Given the description of an element on the screen output the (x, y) to click on. 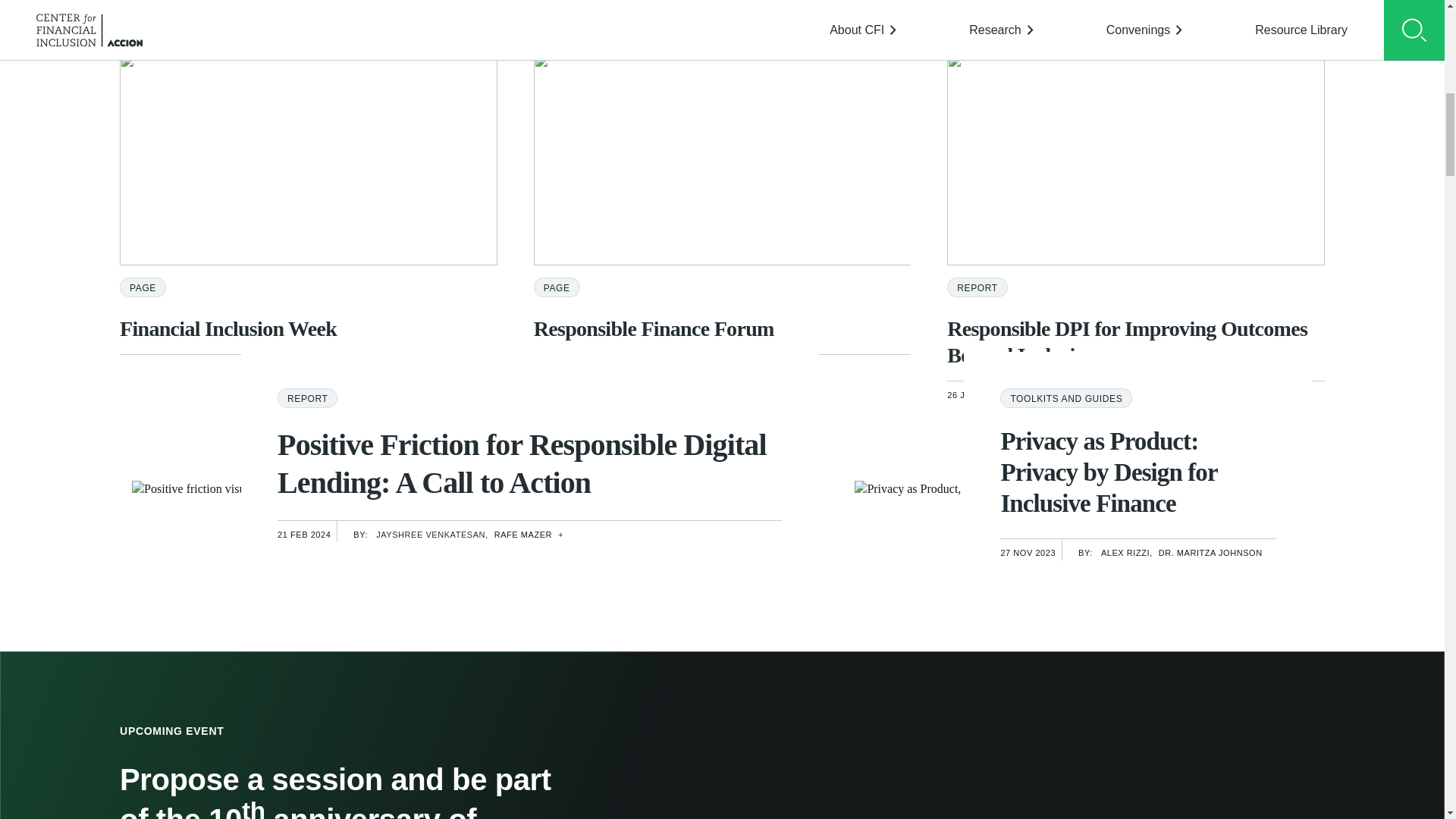
Financial Inclusion Week (308, 328)
EDOARDO TOTOLO (1147, 391)
JAYSHREE VENKATESAN, (431, 531)
Responsible Finance Forum (722, 328)
Responsible DPI for Improving Outcomes Beyond Inclusion (1135, 341)
